Given the description of an element on the screen output the (x, y) to click on. 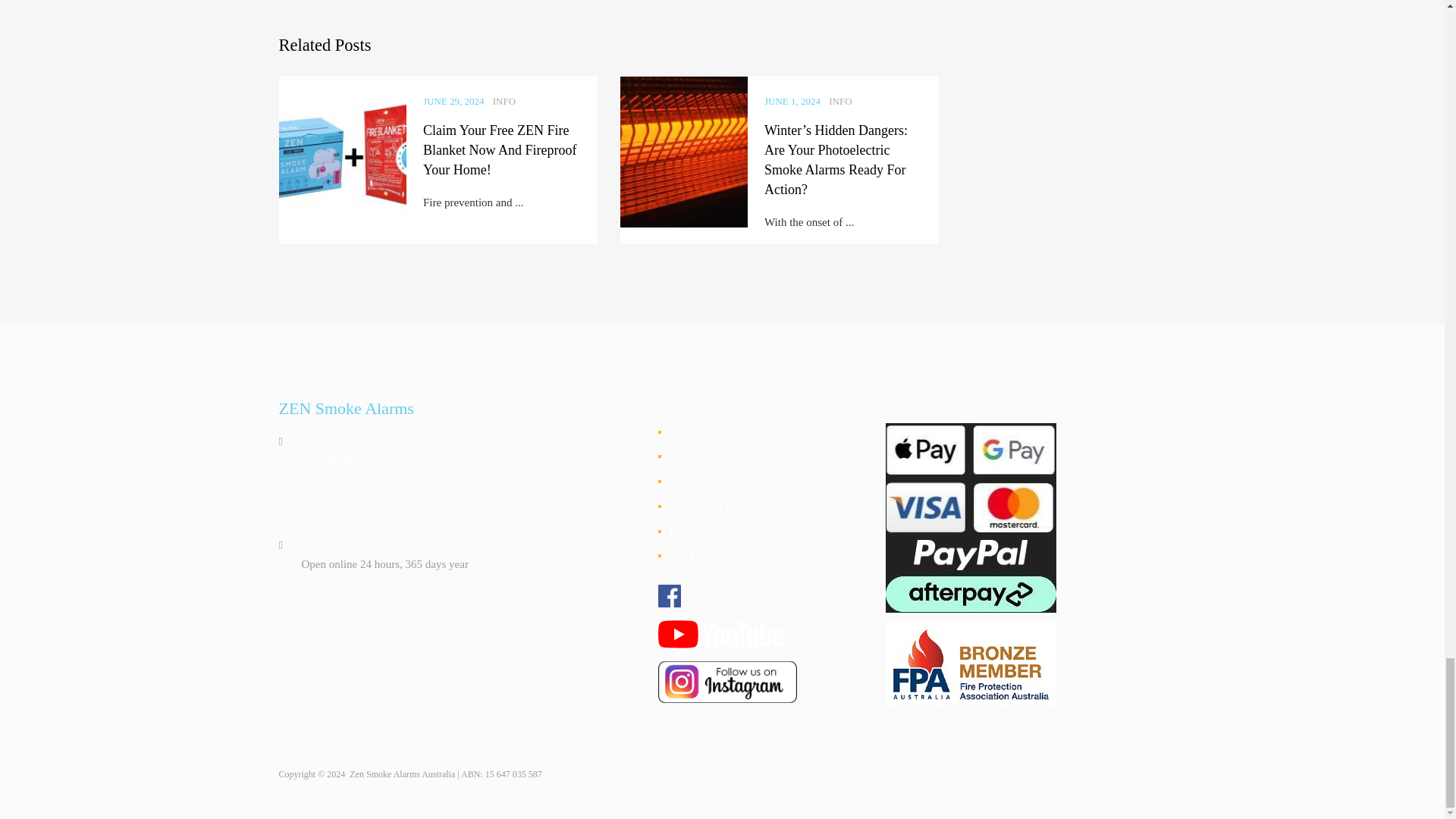
INFO (504, 100)
INFO (839, 100)
